Given the description of an element on the screen output the (x, y) to click on. 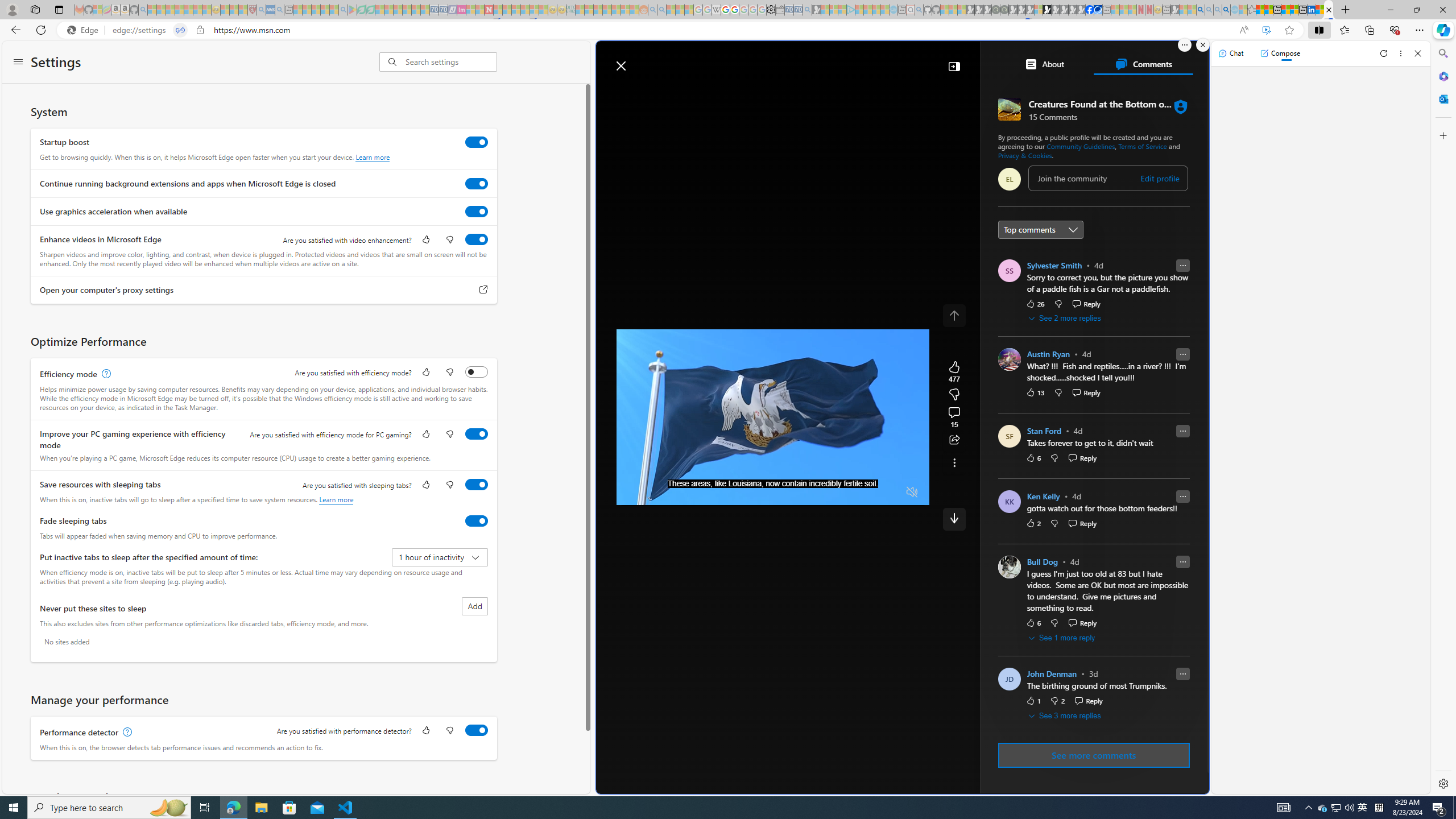
Class: control icon-only (954, 315)
Latest Politics News & Archive | Newsweek.com - Sleeping (488, 9)
AQI & Health | AirNow.gov (1098, 9)
Collapse (954, 65)
Favorites - Sleeping (1251, 9)
Edit profile (1159, 178)
Startup boost (476, 142)
Bing AI - Search (1200, 9)
Enhance videos in Microsoft Edge (476, 238)
Google Chrome Internet Browser Download - Search Images (1225, 9)
